Given the description of an element on the screen output the (x, y) to click on. 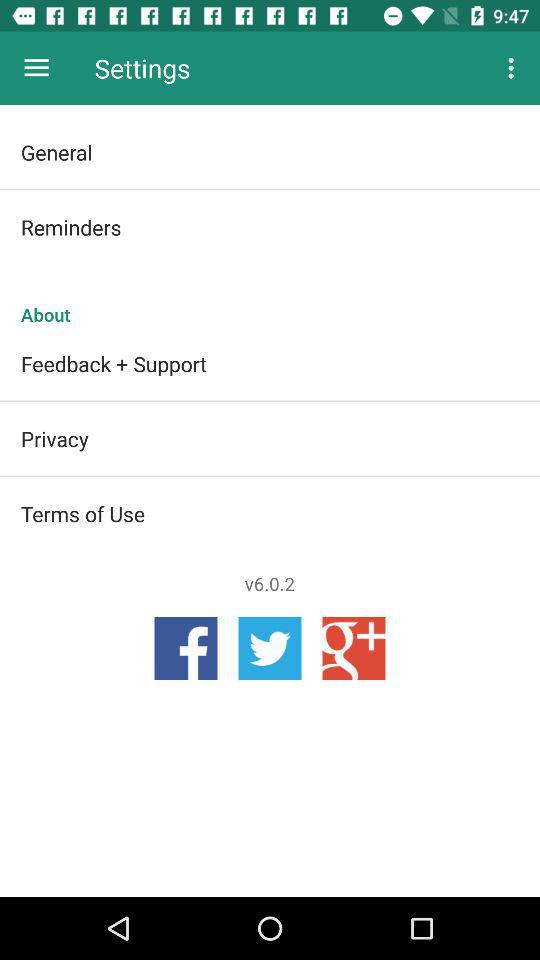
tap the terms of use item (270, 513)
